Given the description of an element on the screen output the (x, y) to click on. 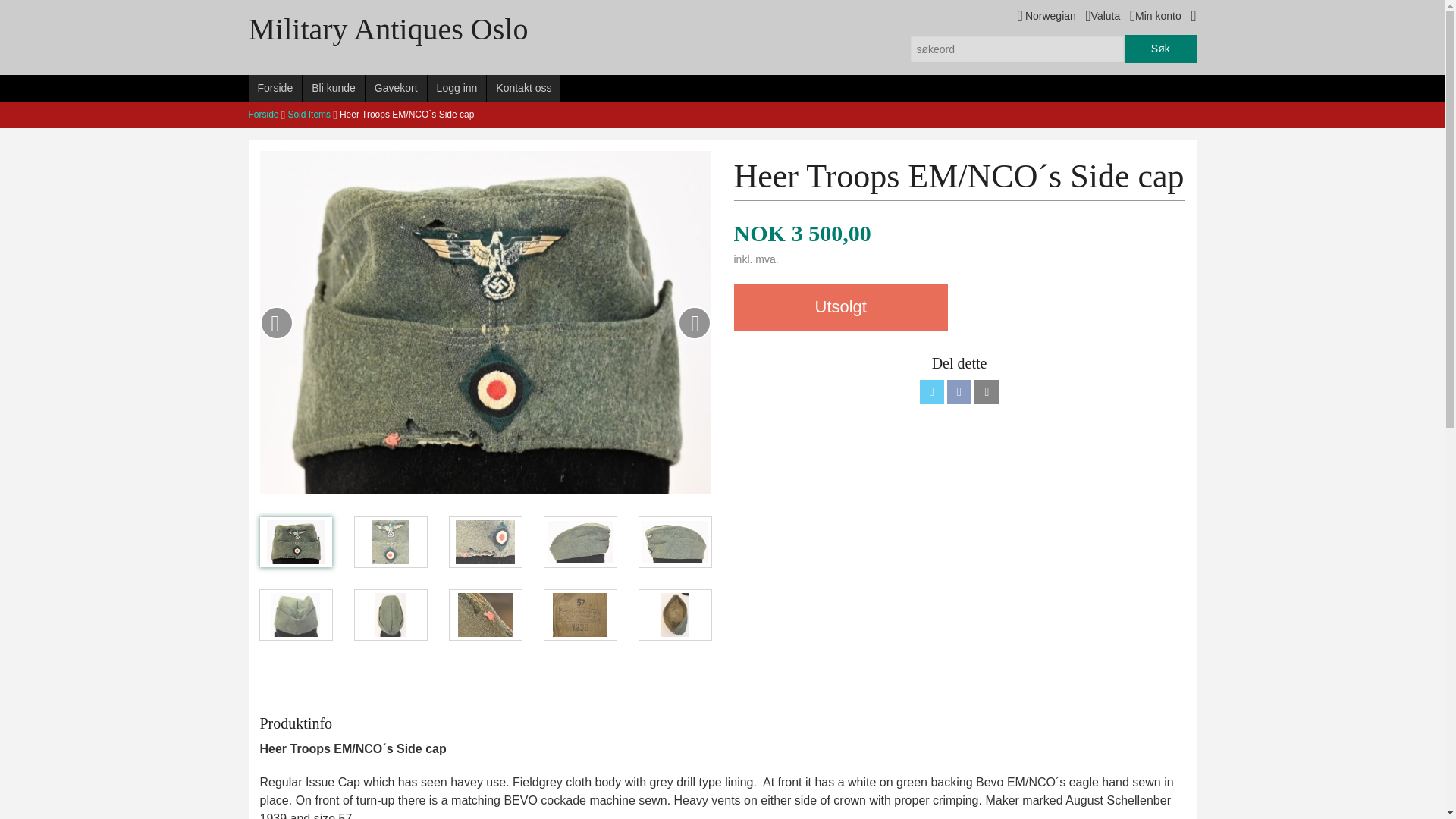
Bli kunde (333, 88)
Forside (275, 88)
Min konto (1154, 15)
Military Antiques Oslo (399, 29)
Logg inn (457, 88)
Valuta (1101, 15)
Gavekort (395, 88)
Kontakt oss (523, 88)
Norwegian (1045, 15)
